Given the description of an element on the screen output the (x, y) to click on. 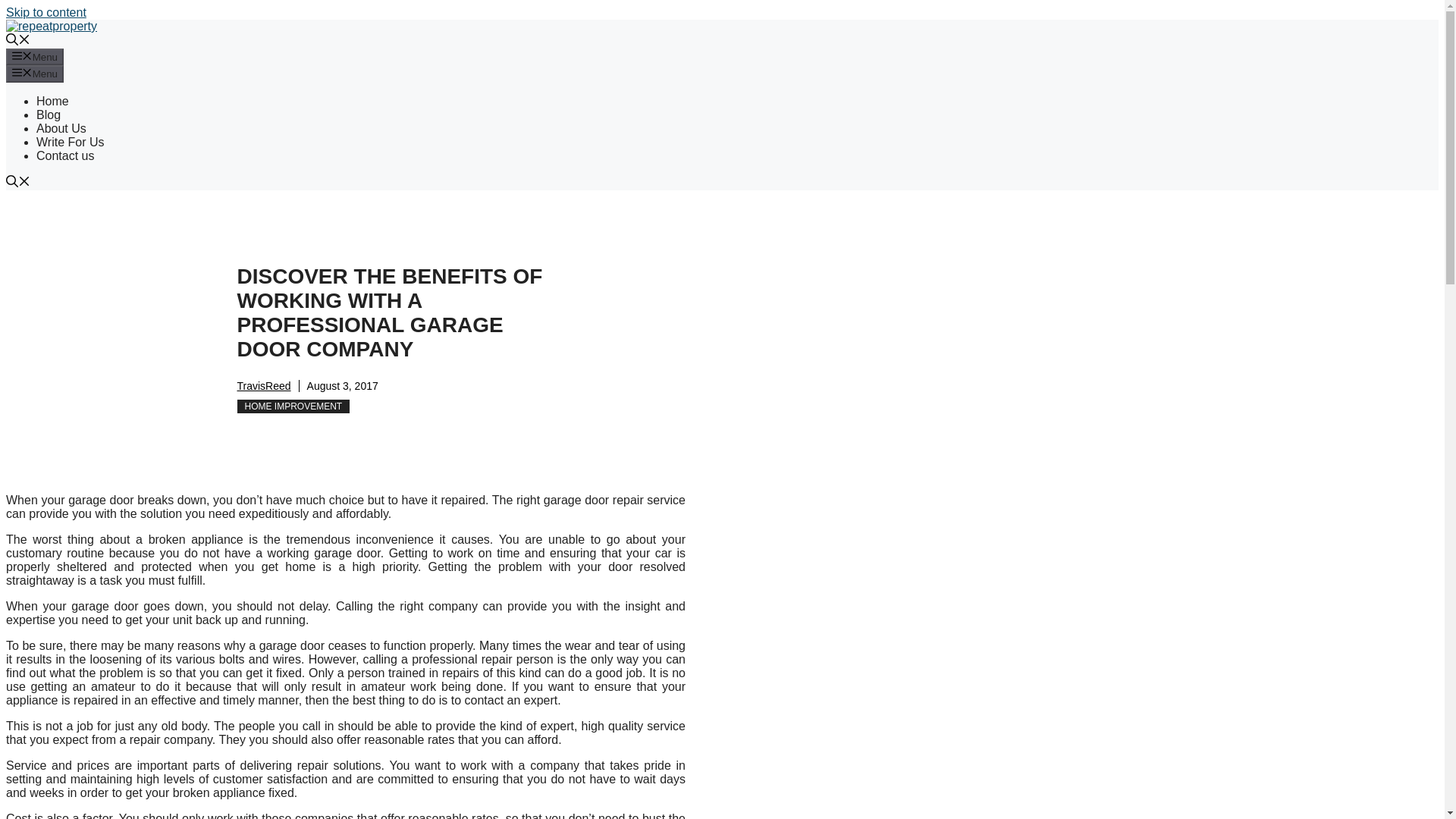
Skip to content (45, 11)
Blog (48, 114)
Contact us (65, 155)
Home (52, 101)
Menu (34, 73)
Skip to content (45, 11)
TravisReed (262, 386)
Write For Us (69, 141)
About Us (60, 128)
Menu (34, 56)
